Given the description of an element on the screen output the (x, y) to click on. 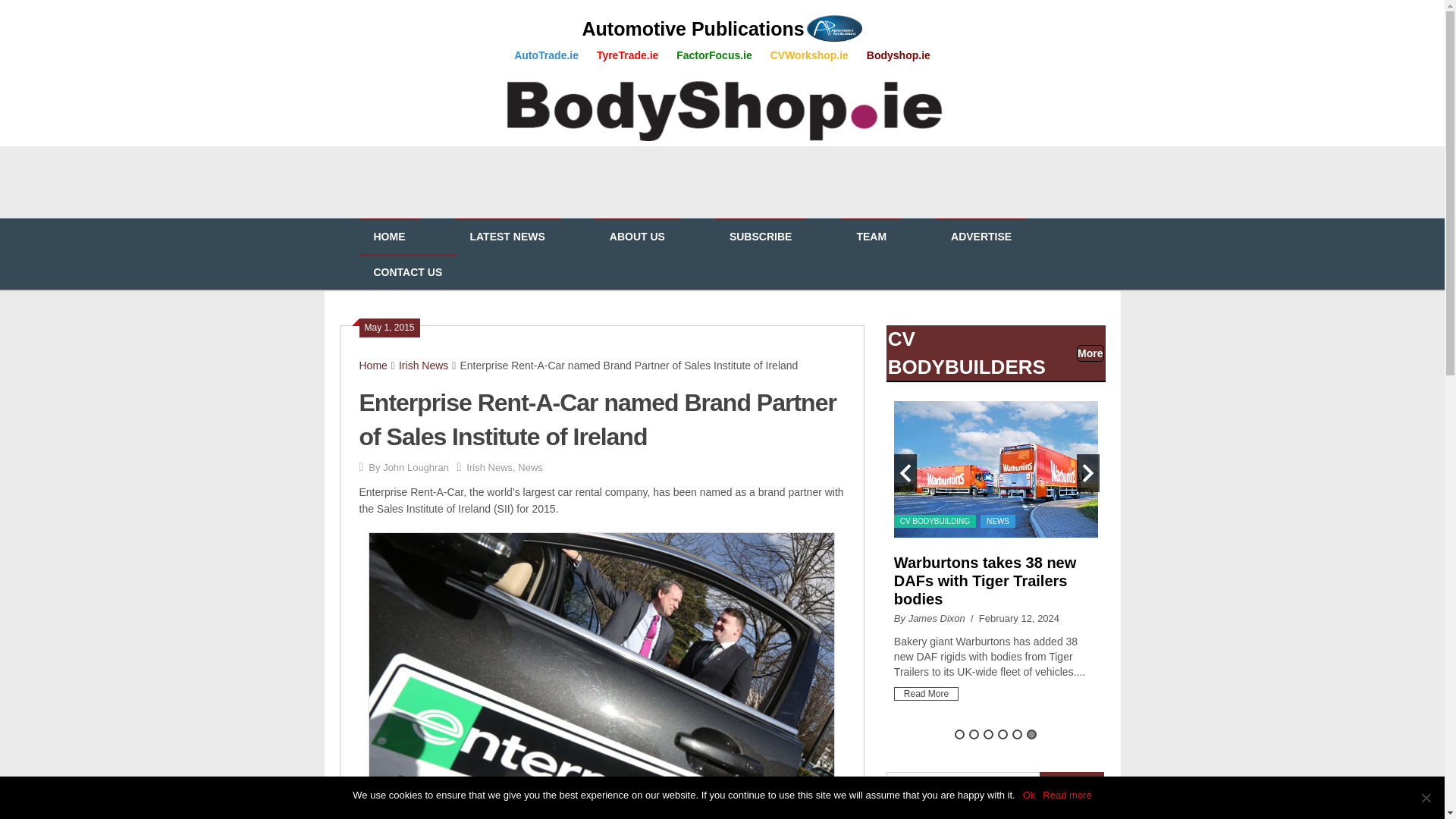
Irish News (488, 467)
Home (373, 365)
Irish News (423, 365)
CONTACT US (407, 272)
SUBSCRIBE (760, 236)
Search (1071, 786)
Search this site... (962, 786)
LATEST NEWS (507, 236)
No (1425, 797)
HOME (389, 236)
TEAM (871, 236)
ADVERTISE (981, 236)
CV BODYBUILDERS (966, 352)
Posts by John Loughran (415, 467)
News (530, 467)
